Given the description of an element on the screen output the (x, y) to click on. 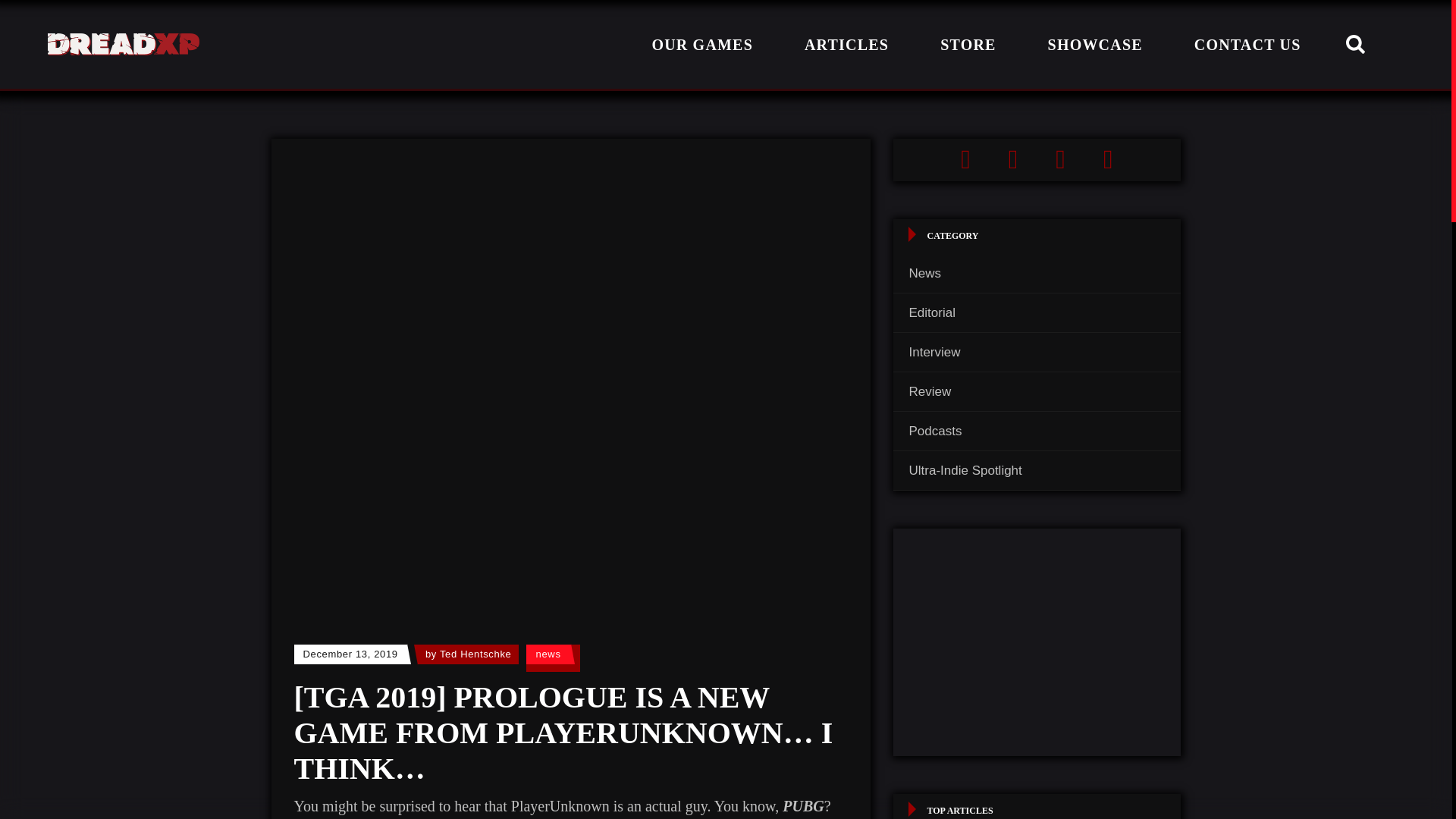
OUR GAMES (702, 44)
ARTICLES (846, 44)
SHOWCASE (1095, 44)
Shift-click to edit this widget. (1036, 159)
STORE (967, 44)
CONTACT US (1247, 44)
